Given the description of an element on the screen output the (x, y) to click on. 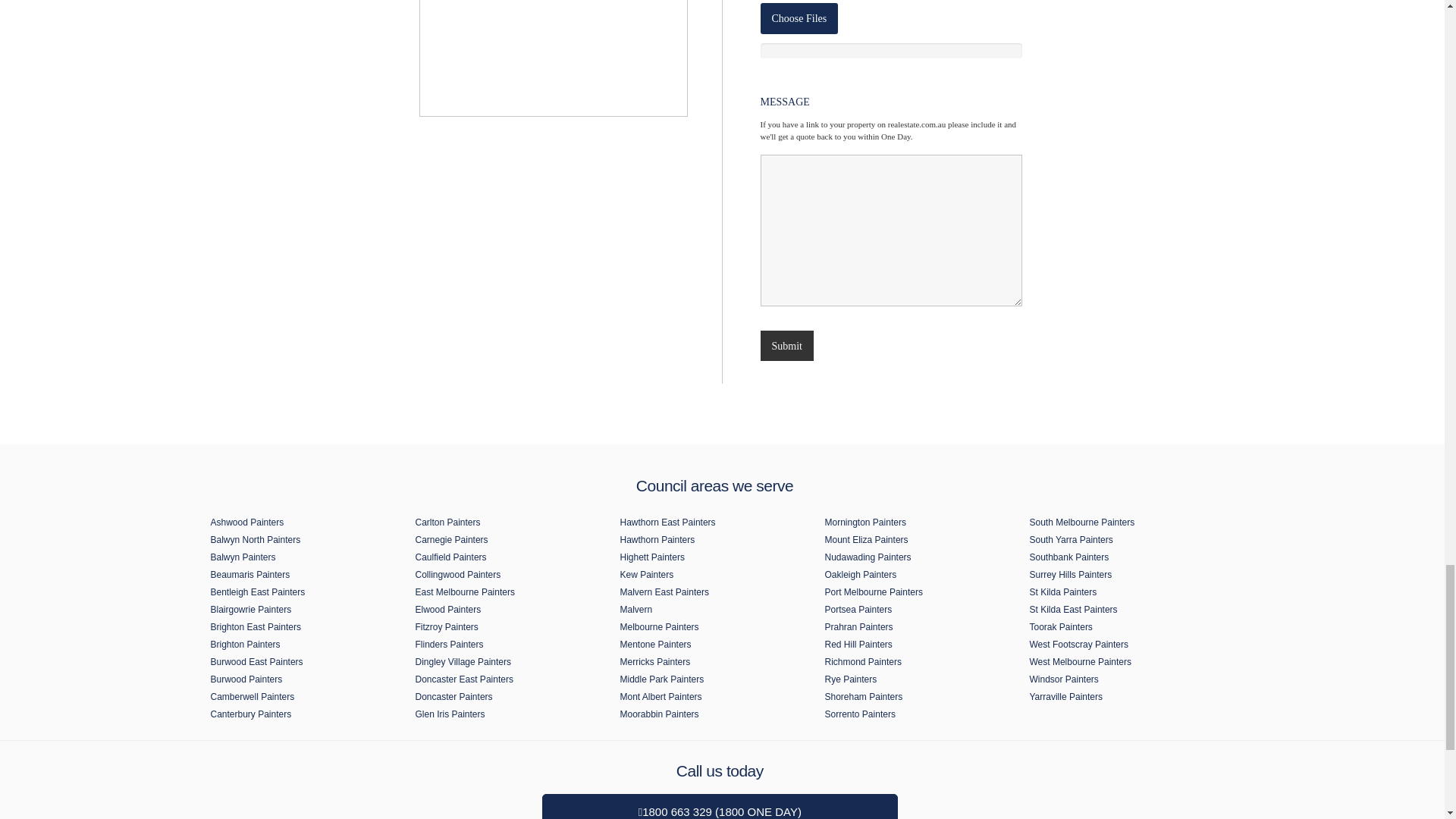
Submit (786, 345)
Choose Files (799, 18)
Ashwood Painters (305, 522)
Submit (786, 345)
